Given the description of an element on the screen output the (x, y) to click on. 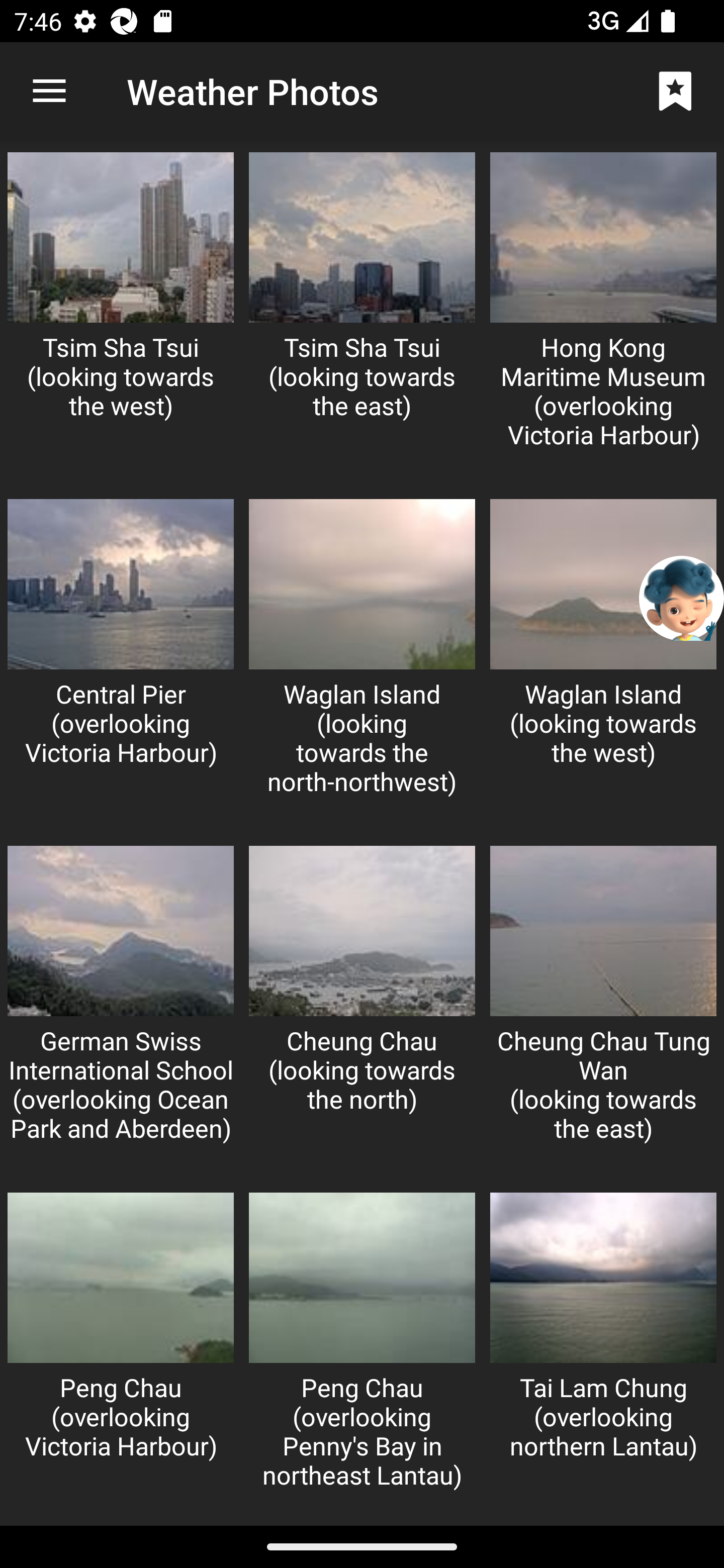
Navigate up (49, 91)
Bookmark added (674, 90)
Tsim Sha Tsui
(looking towards the west) (120, 315)
Tsim Sha Tsui
(looking towards the east) (361, 315)
Central Pier
(overlooking Victoria Harbour) (120, 662)
Waglan Island
(looking towards the west) (603, 662)
Chatbot (681, 598)
Cheung Chau
(looking towards the north) (361, 1009)
Cheung Chau Tung Wan
(looking towards the east) (603, 1009)
Peng Chau
(overlooking Victoria Harbour) (120, 1355)
Tai Lam Chung
(overlooking northern Lantau) (603, 1355)
